Given the description of an element on the screen output the (x, y) to click on. 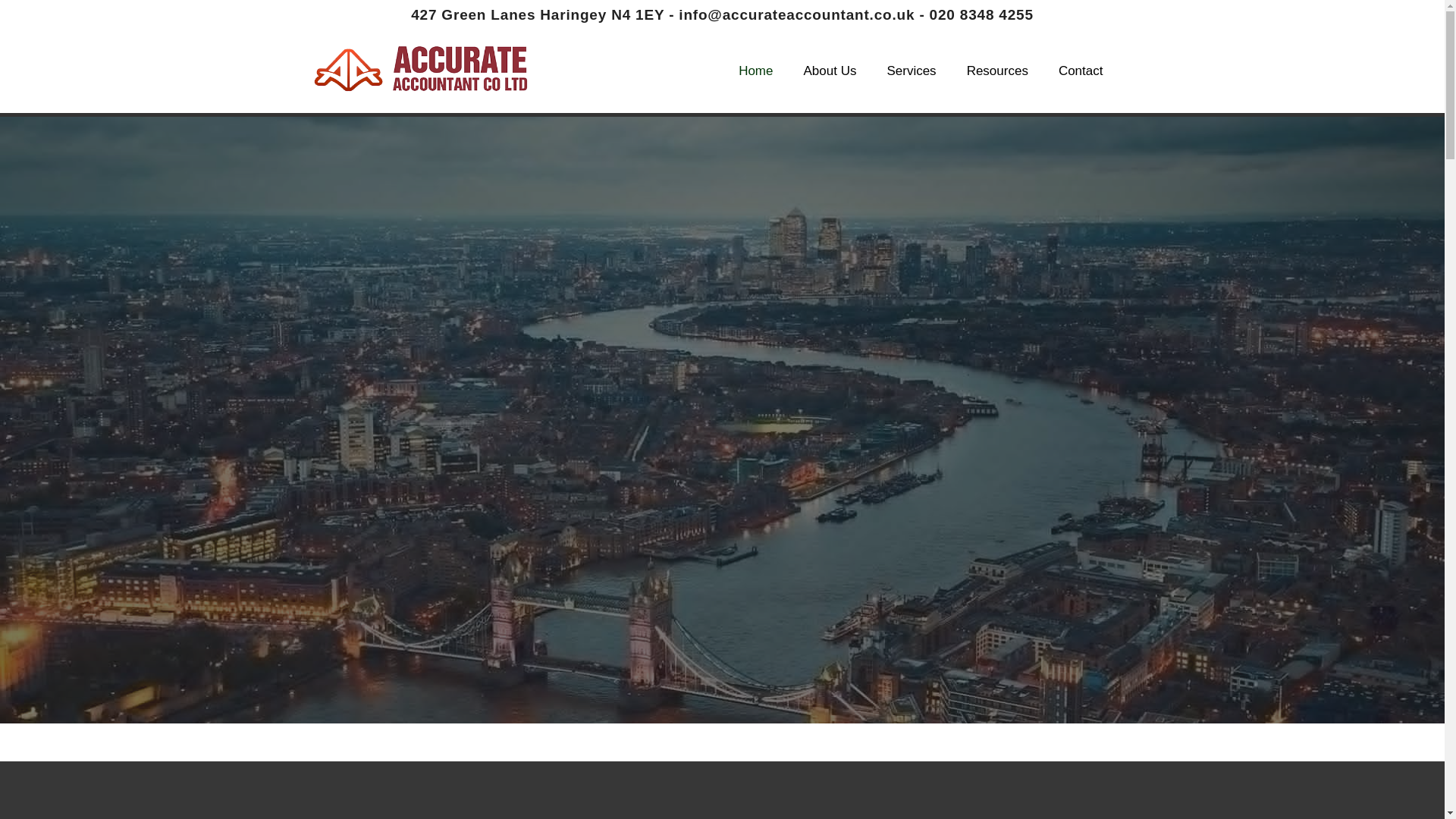
About Us (830, 71)
Contact (1080, 71)
Services (910, 71)
Home (755, 71)
Resources (997, 71)
